Given the description of an element on the screen output the (x, y) to click on. 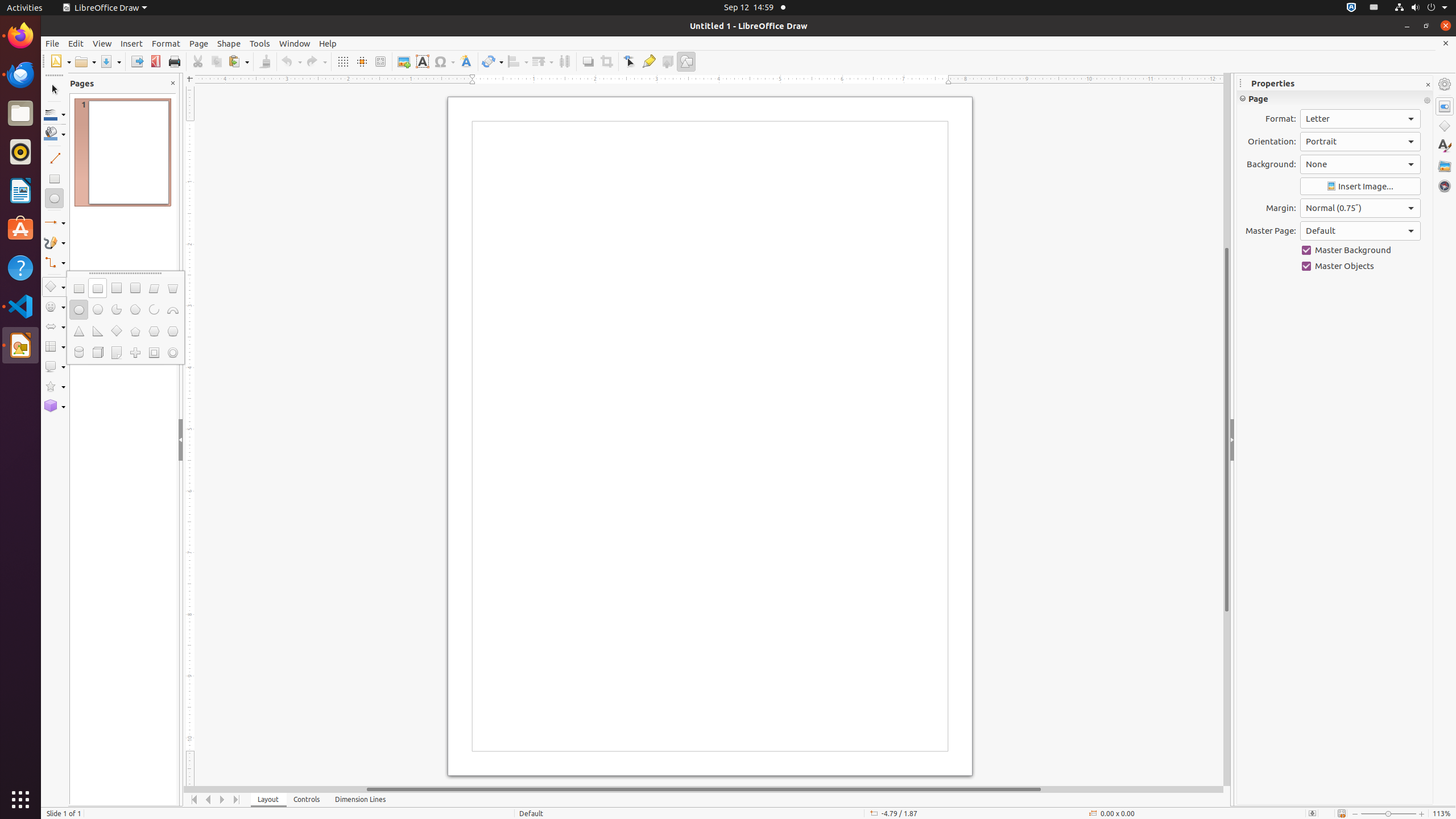
Edit Points Element type: push-button (629, 61)
More Options Element type: push-button (1426, 100)
Glue Points Element type: push-button (648, 61)
Thunderbird Mail Element type: push-button (20, 74)
Vertical scroll bar Element type: scroll-bar (1226, 429)
